Given the description of an element on the screen output the (x, y) to click on. 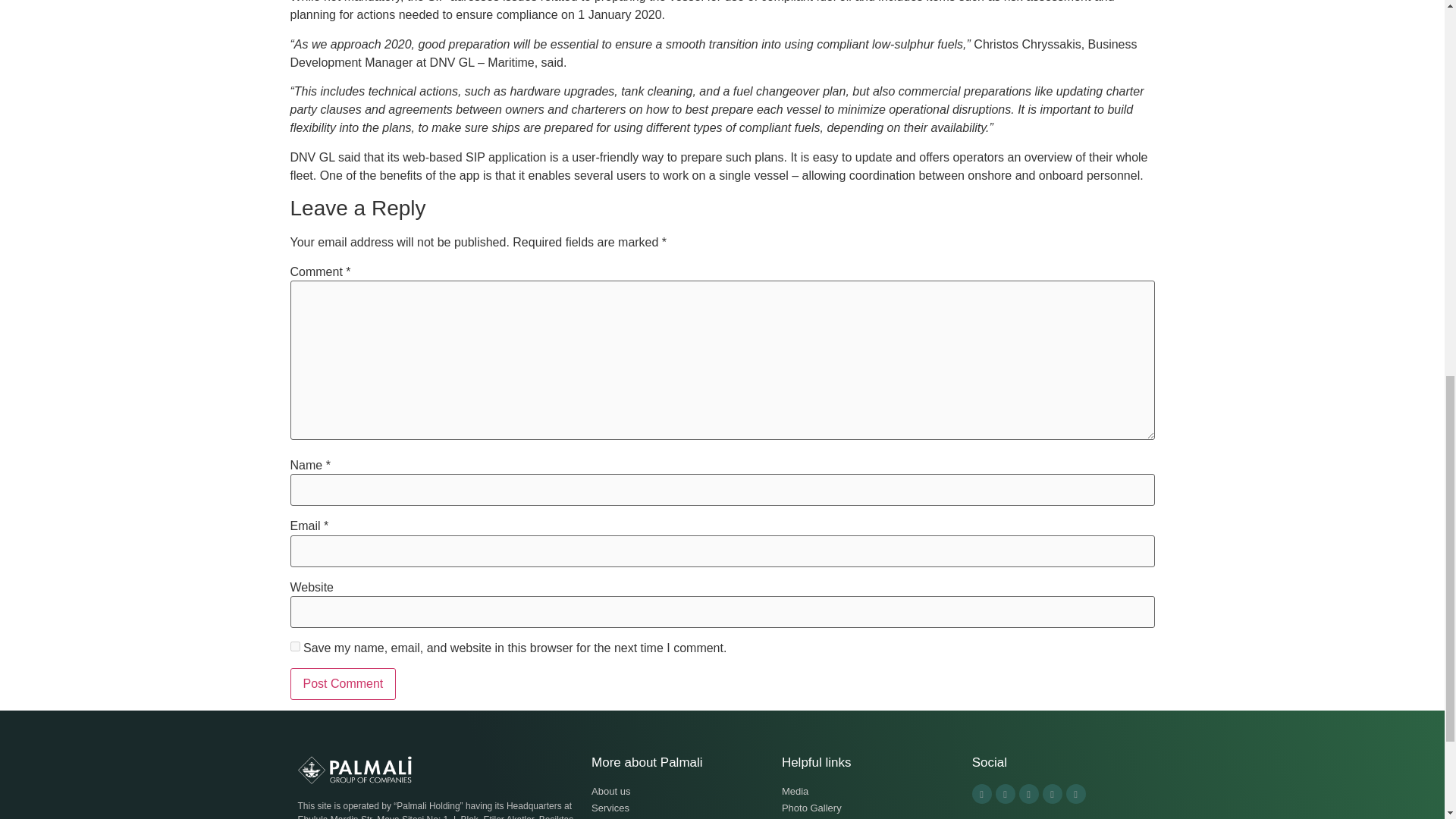
Post Comment (342, 684)
Post Comment (342, 684)
Services (679, 807)
Media (868, 791)
Fleet (679, 817)
About us (679, 791)
yes (294, 646)
